Given the description of an element on the screen output the (x, y) to click on. 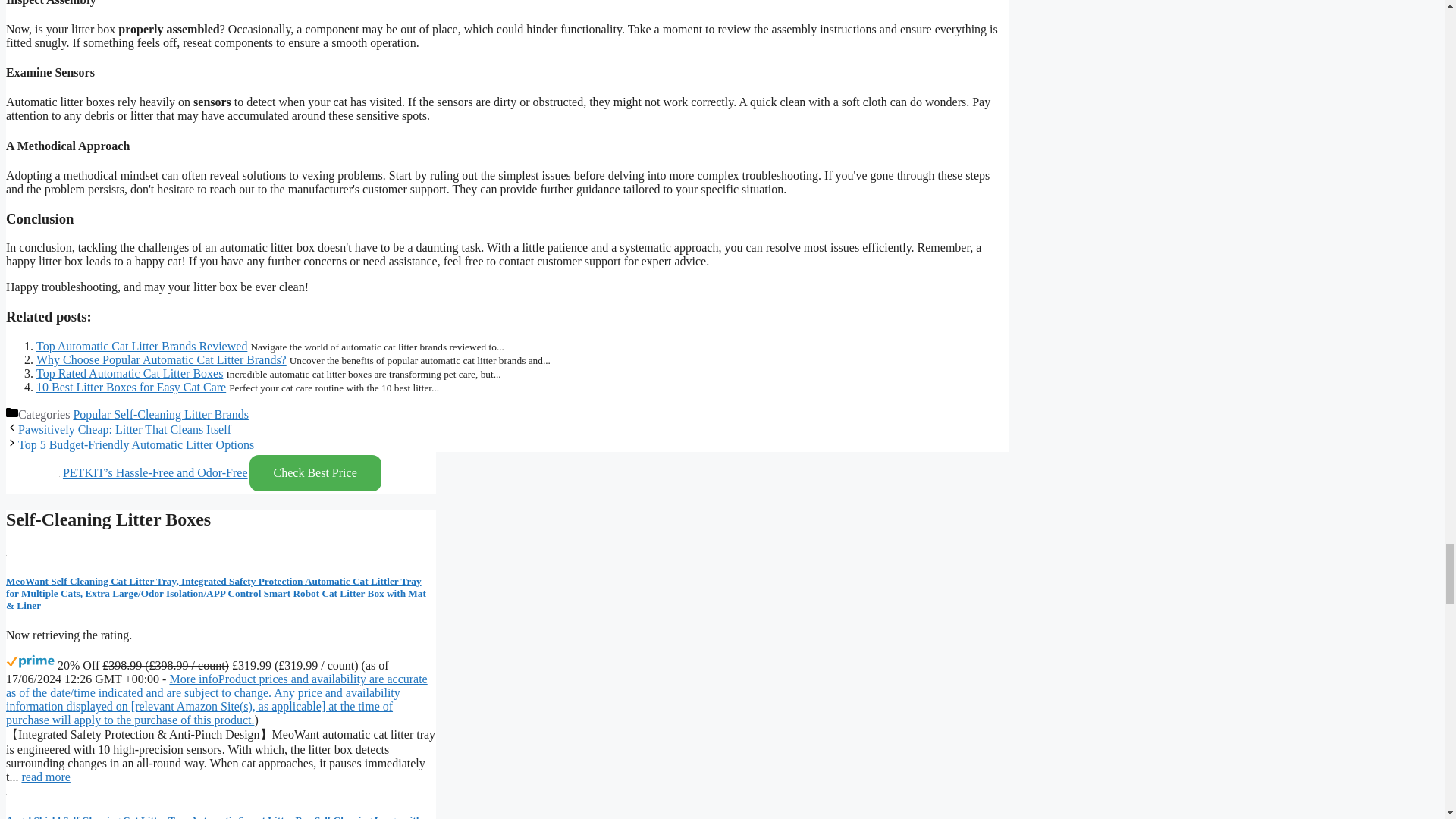
Why Choose Popular Automatic Cat Litter Brands? (161, 359)
Top Rated Automatic Cat Litter Boxes (129, 373)
Top Automatic Cat Litter Brands Reviewed (141, 345)
10 Best Litter Boxes for Easy Cat Care (130, 386)
Available for Amazon Prime (30, 661)
